Given the description of an element on the screen output the (x, y) to click on. 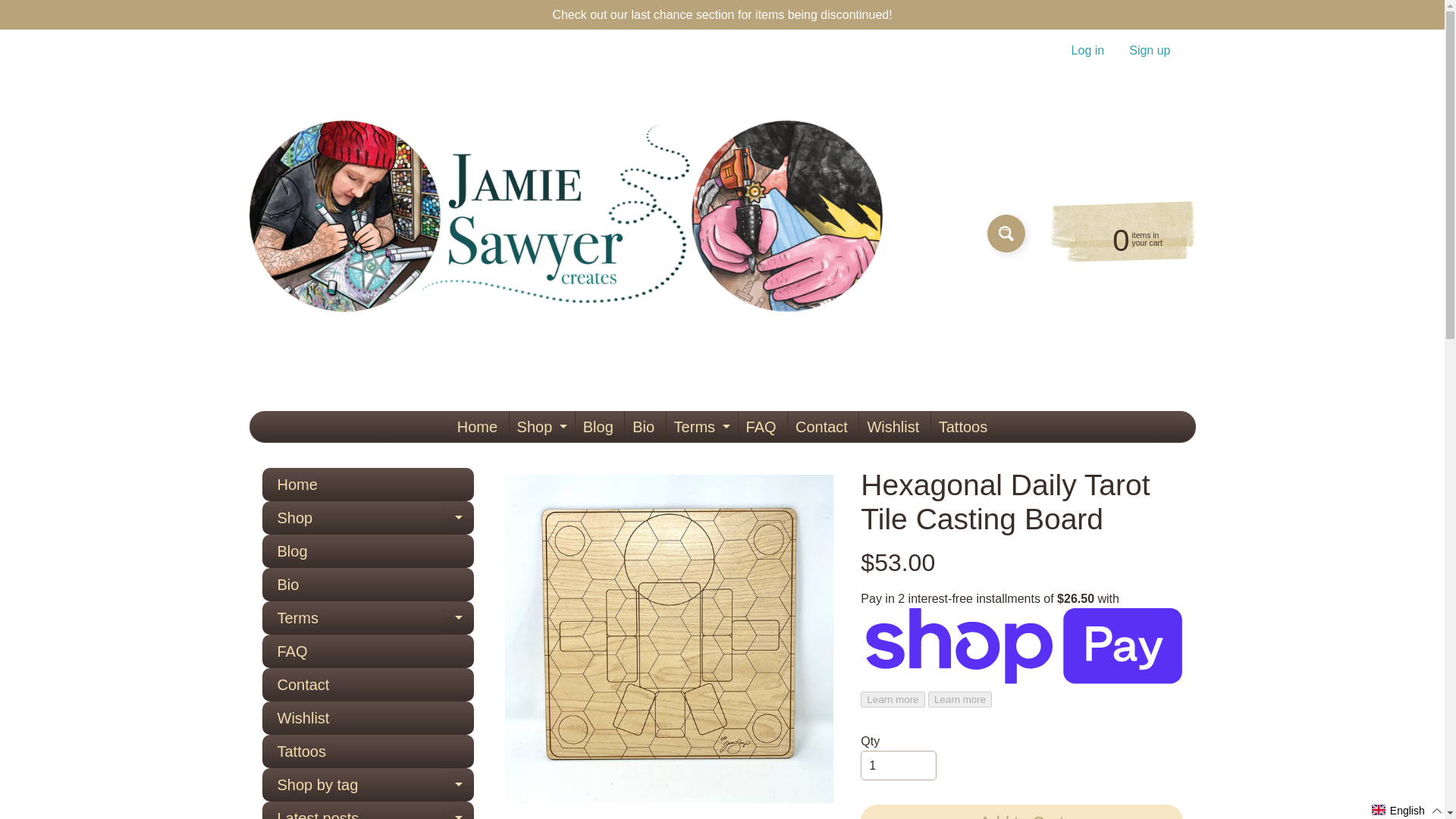
Home (477, 426)
Blog (598, 426)
Skip to content (22, 8)
Search (1006, 233)
Search (1006, 233)
Sign up (540, 426)
Log in (699, 426)
1 (1149, 50)
Bio (1122, 238)
FAQ (1088, 50)
